Given the description of an element on the screen output the (x, y) to click on. 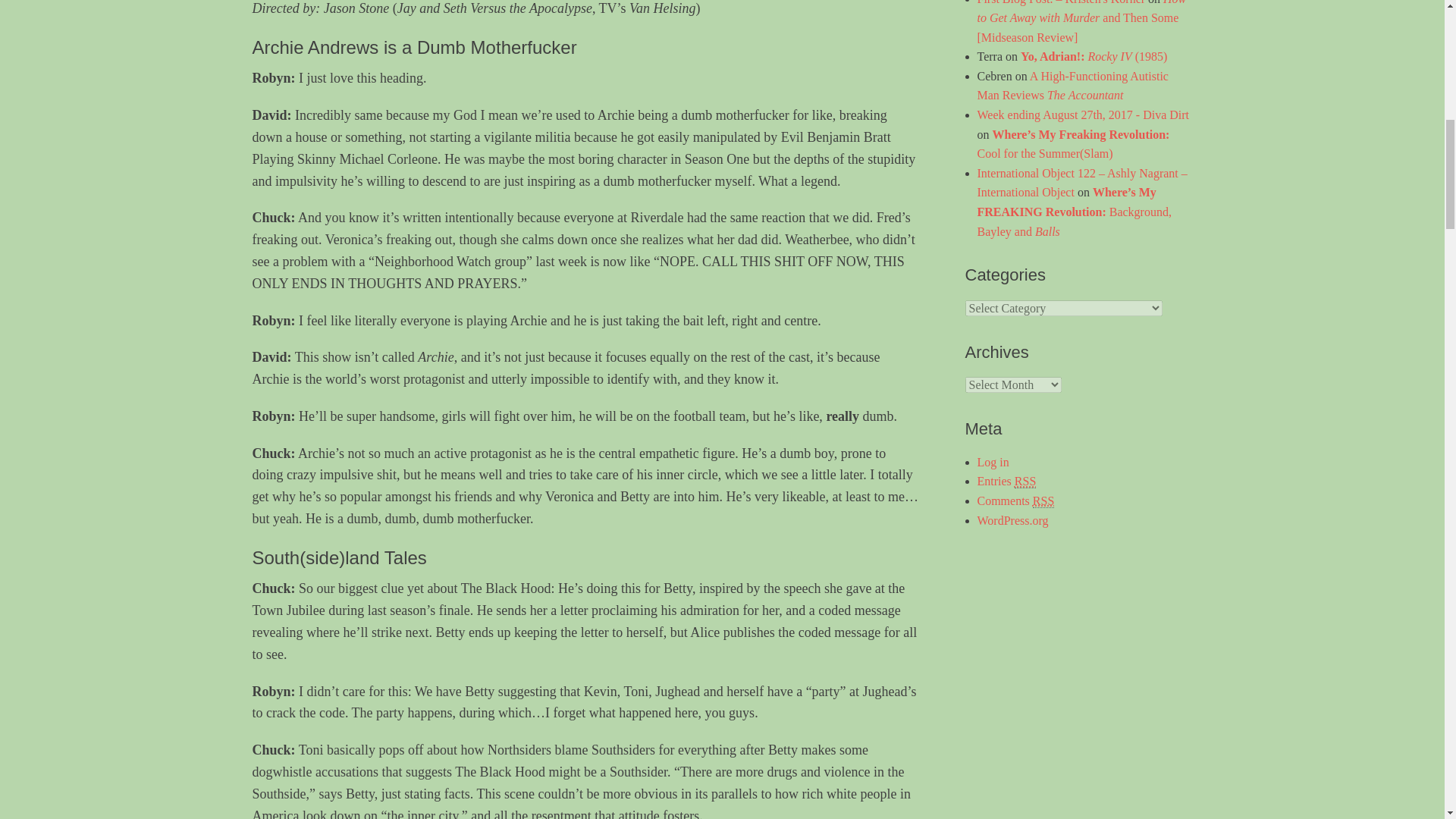
Really Simple Syndication (1043, 500)
Really Simple Syndication (1024, 481)
